Given the description of an element on the screen output the (x, y) to click on. 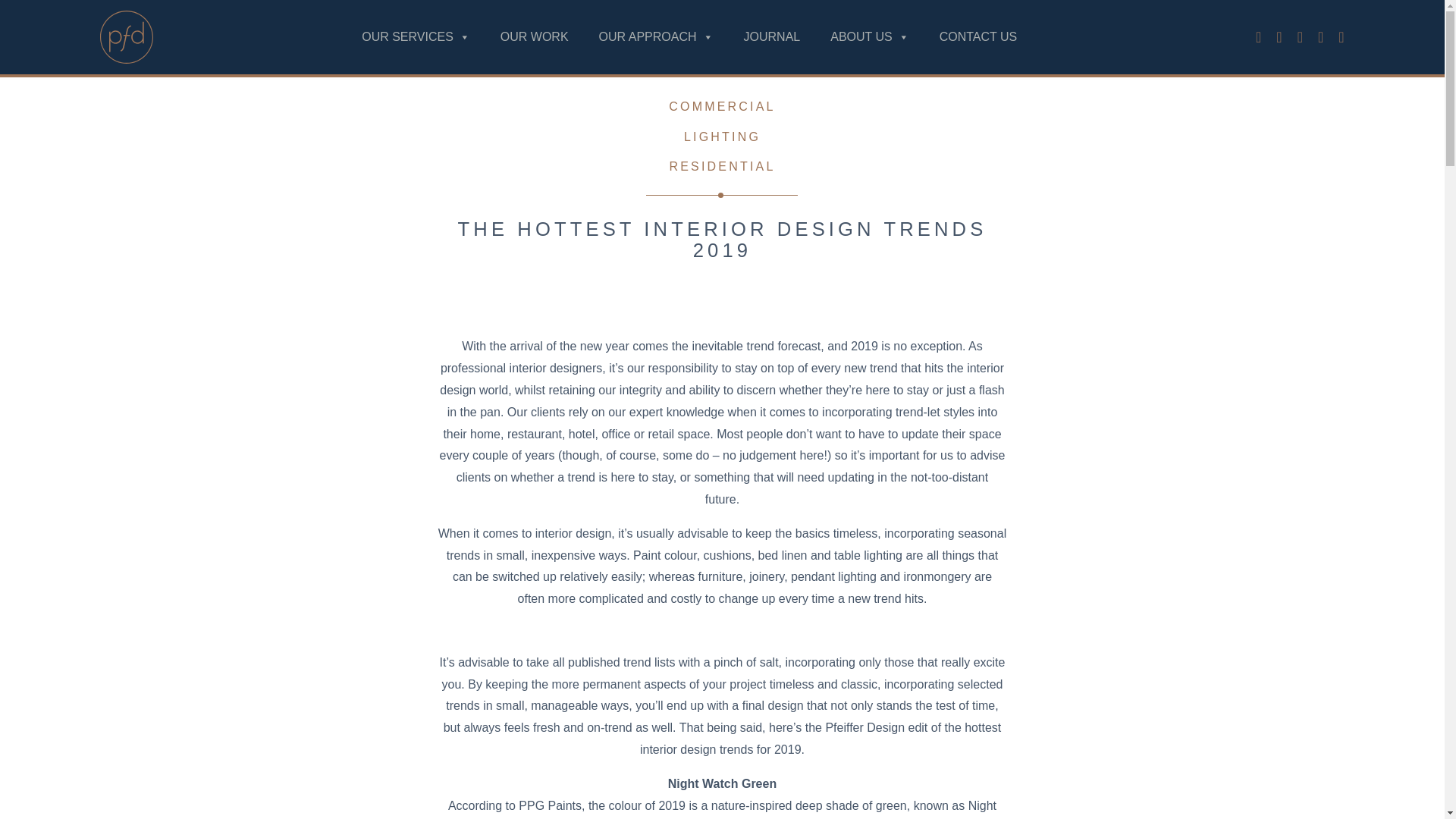
lighting (722, 136)
residential (721, 165)
commercial (721, 106)
OUR SERVICES (415, 37)
